Given the description of an element on the screen output the (x, y) to click on. 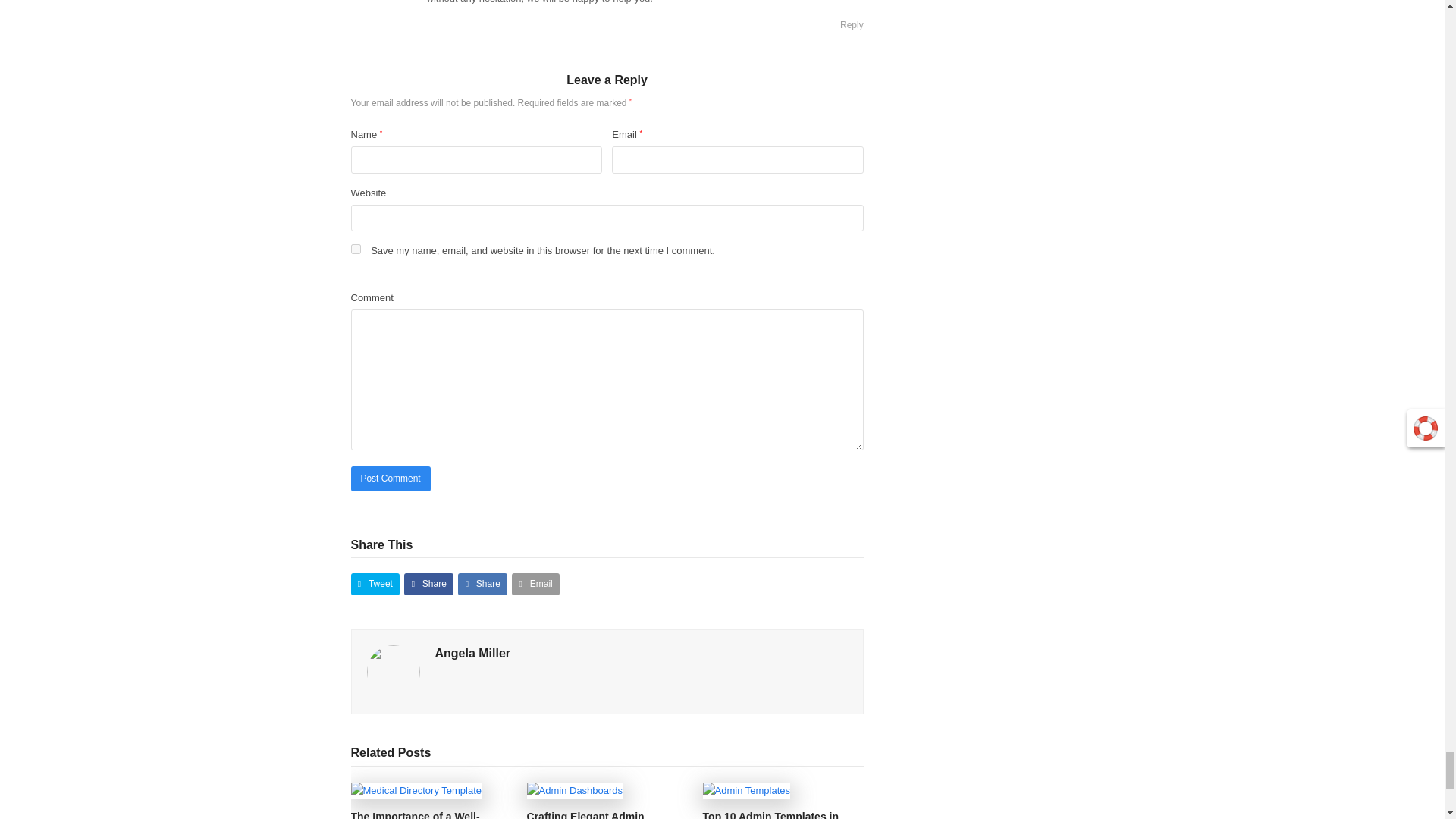
Post Comment (389, 478)
yes (354, 248)
